Given the description of an element on the screen output the (x, y) to click on. 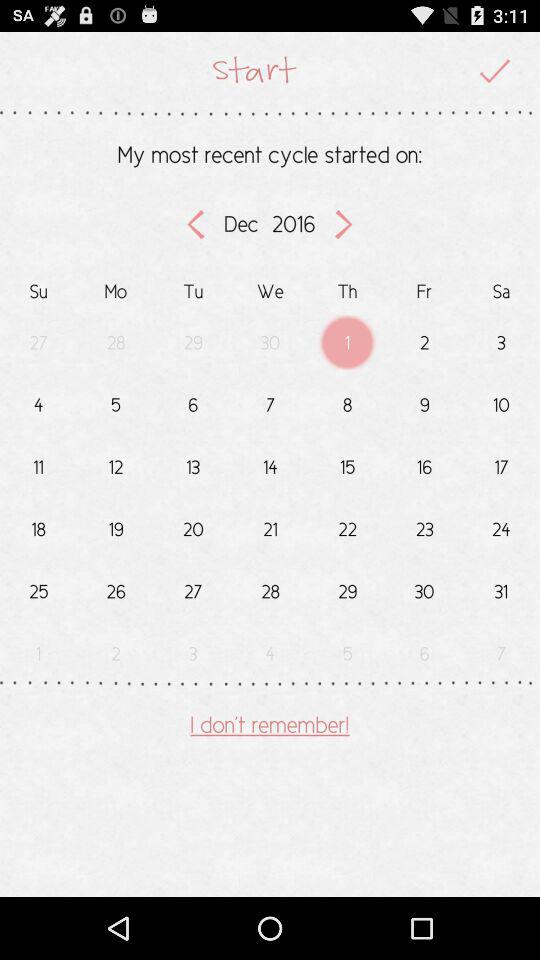
click on number 7 (270, 400)
select the number 27 (193, 586)
select the text below tu (193, 341)
select 16 which is below 9 on the page (424, 463)
select the number which is below number 22 (347, 586)
